Given the description of an element on the screen output the (x, y) to click on. 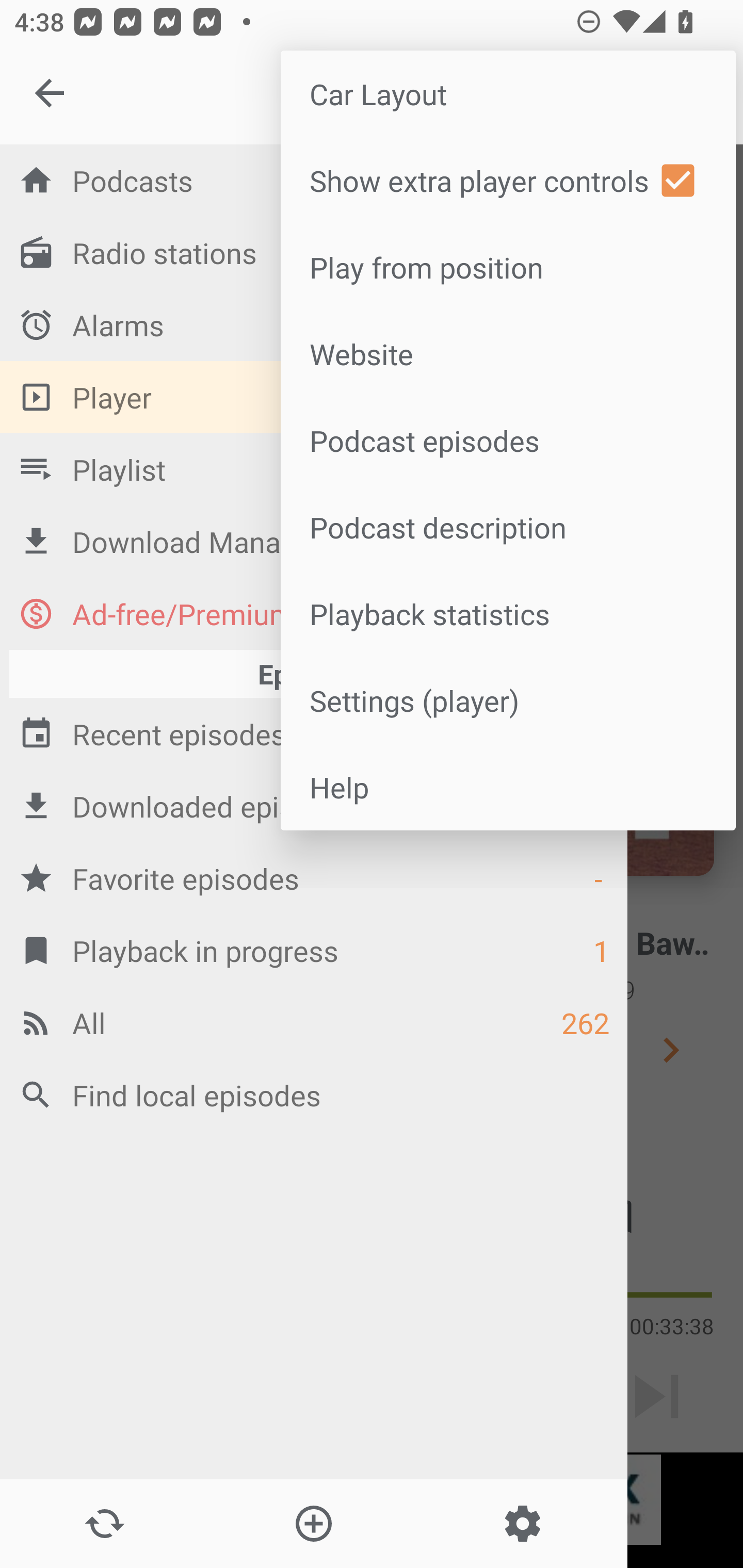
Car Layout (507, 93)
Show extra player controls (507, 180)
Play from position (507, 267)
Website (507, 353)
Podcast episodes (507, 440)
Podcast description (507, 527)
Playback statistics (507, 613)
Settings (player) (507, 699)
Help (507, 787)
